Given the description of an element on the screen output the (x, y) to click on. 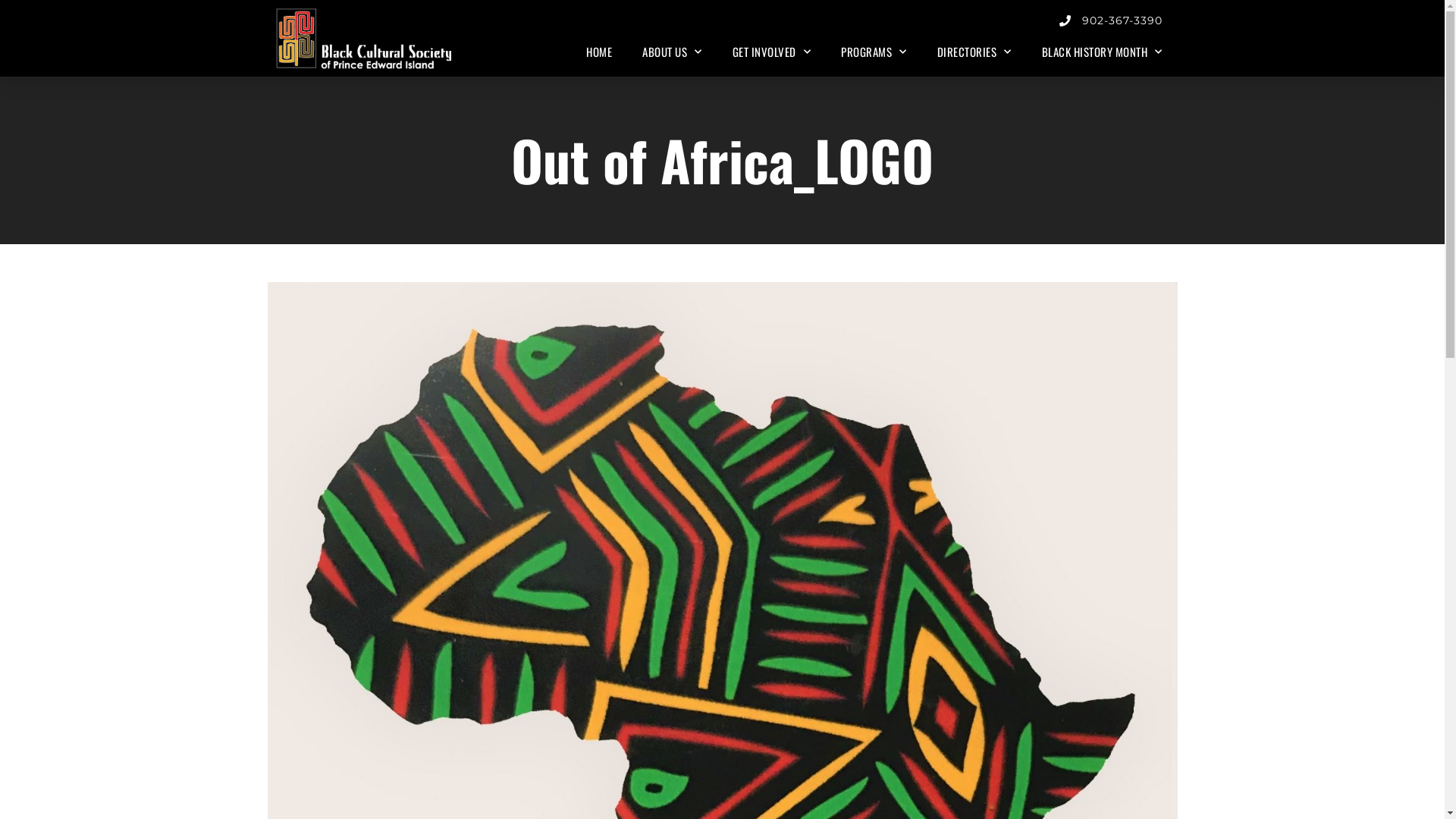
ABOUT US Element type: text (672, 51)
GET INVOLVED Element type: text (771, 51)
PROGRAMS Element type: text (873, 51)
DIRECTORIES Element type: text (974, 51)
BLACK HISTORY MONTH Element type: text (1101, 51)
HOME Element type: text (598, 51)
